Given the description of an element on the screen output the (x, y) to click on. 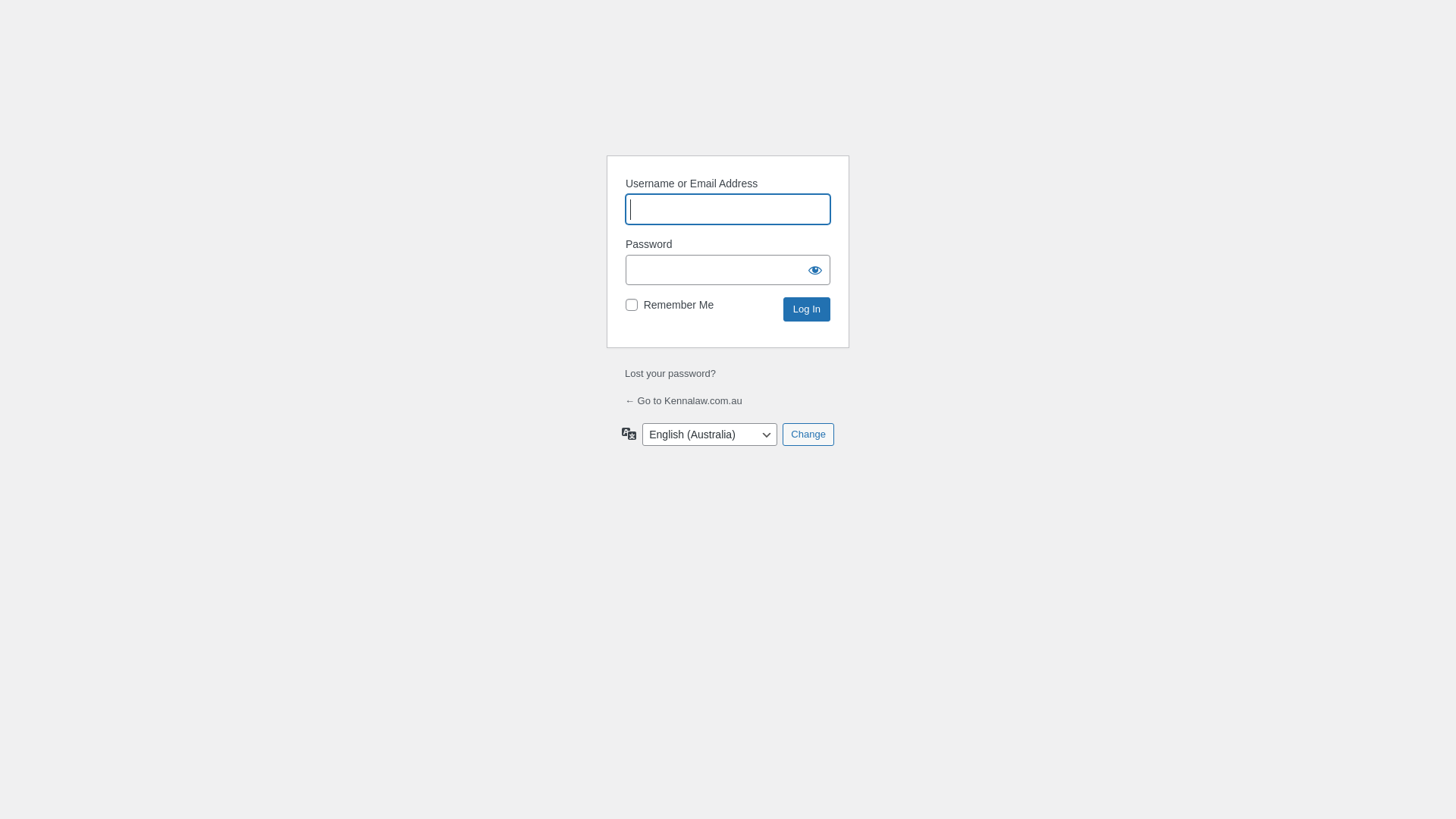
Powered by WordPress Element type: text (727, 104)
Change Element type: text (808, 434)
Lost your password? Element type: text (669, 373)
Log In Element type: text (806, 309)
